Given the description of an element on the screen output the (x, y) to click on. 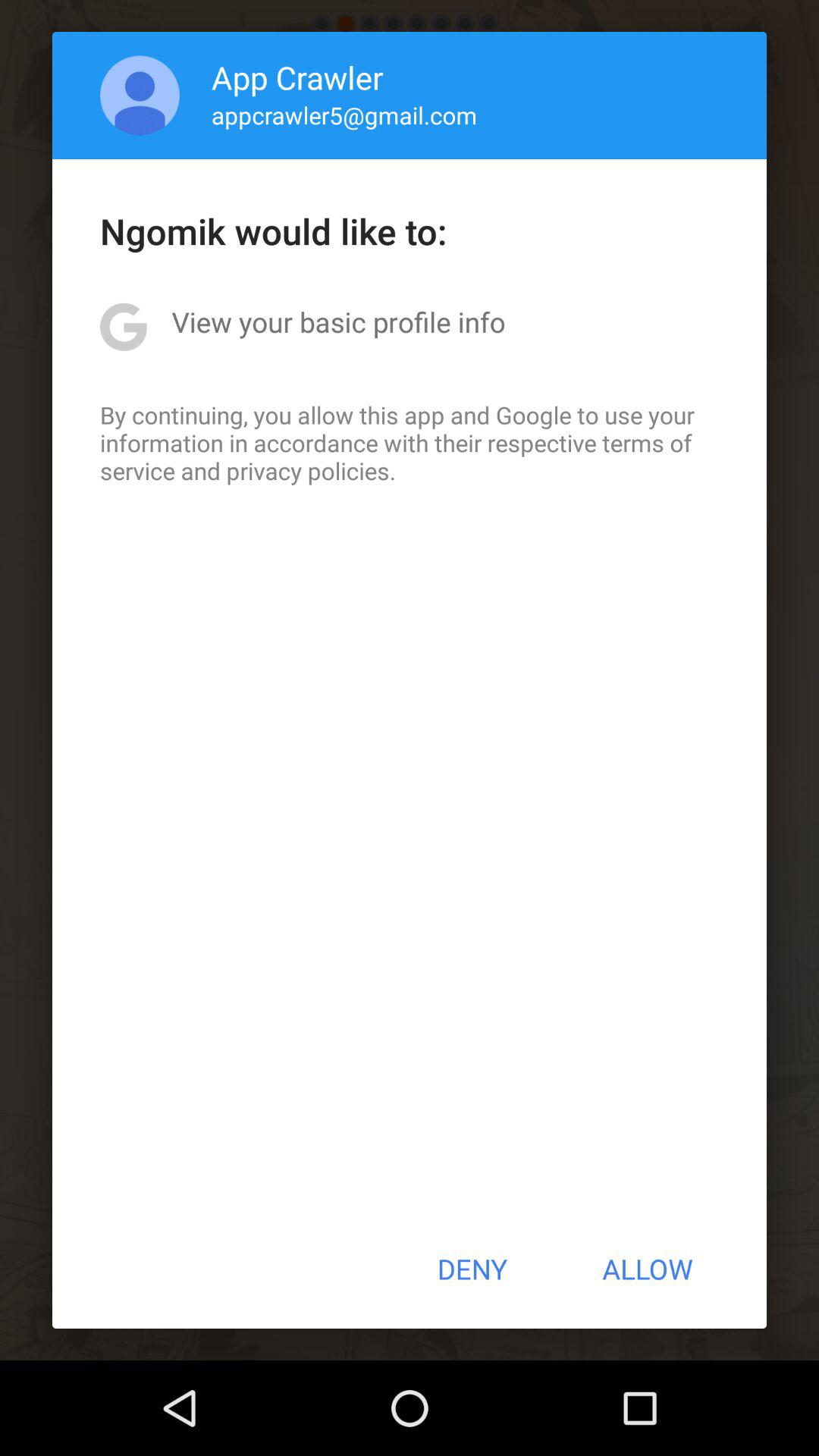
press the icon below by continuing you app (471, 1268)
